Given the description of an element on the screen output the (x, y) to click on. 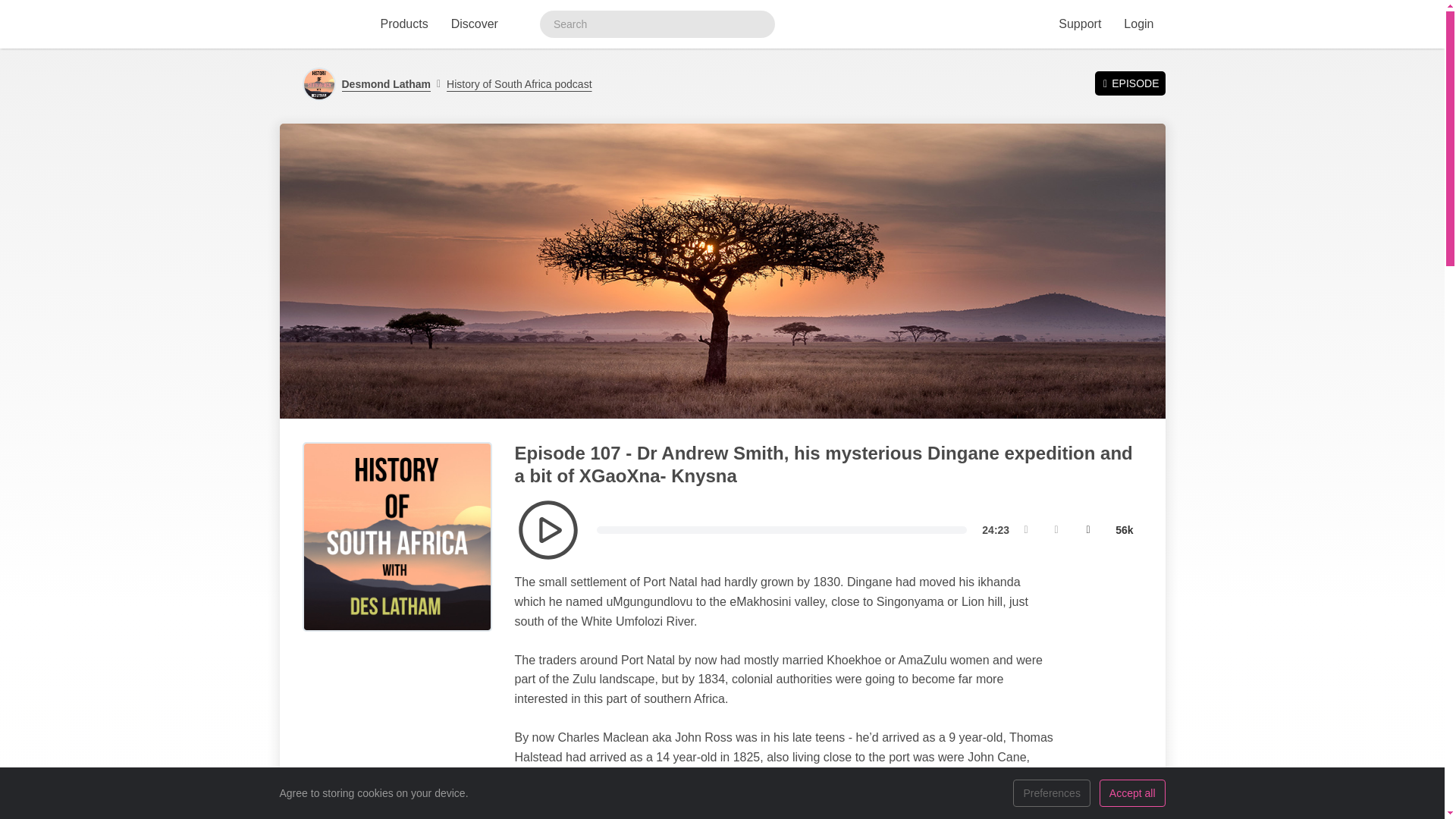
Skip forward (1056, 529)
Support (1079, 24)
History of South Africa podcast (514, 83)
 EPISODE (1129, 83)
Visit iono.fm homepage (316, 24)
Skip backward (1025, 529)
Change quality (1123, 529)
Login (1138, 24)
Toggle playback (547, 529)
Change volume (1088, 529)
Search (758, 23)
Products (403, 24)
Discover (474, 24)
Desmond Latham (384, 83)
